Given the description of an element on the screen output the (x, y) to click on. 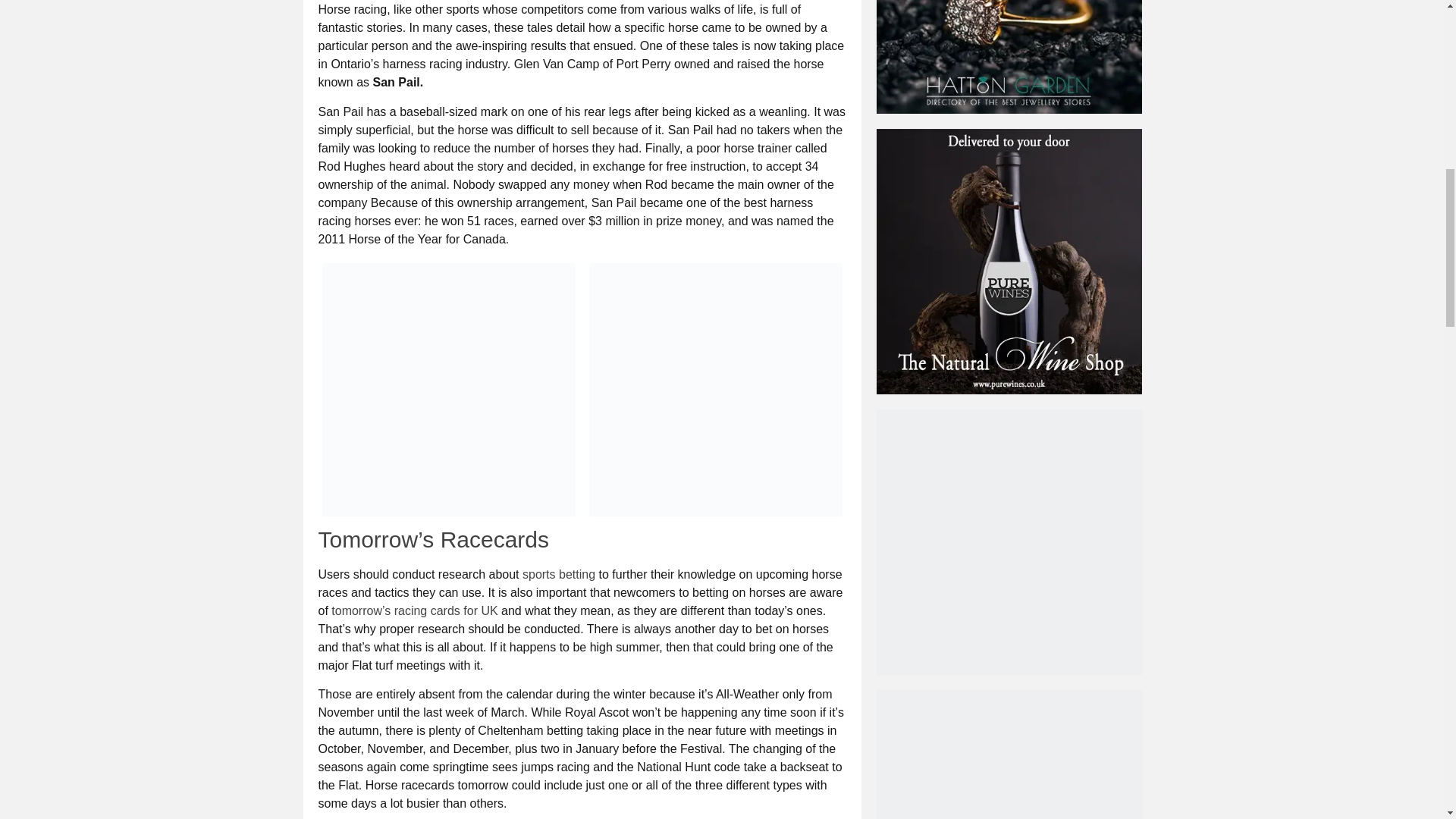
Why Do Rich People Love to Bet on Horse Racing? (714, 389)
Why Do Rich People Love to Bet on Horse Racing? (448, 389)
